Given the description of an element on the screen output the (x, y) to click on. 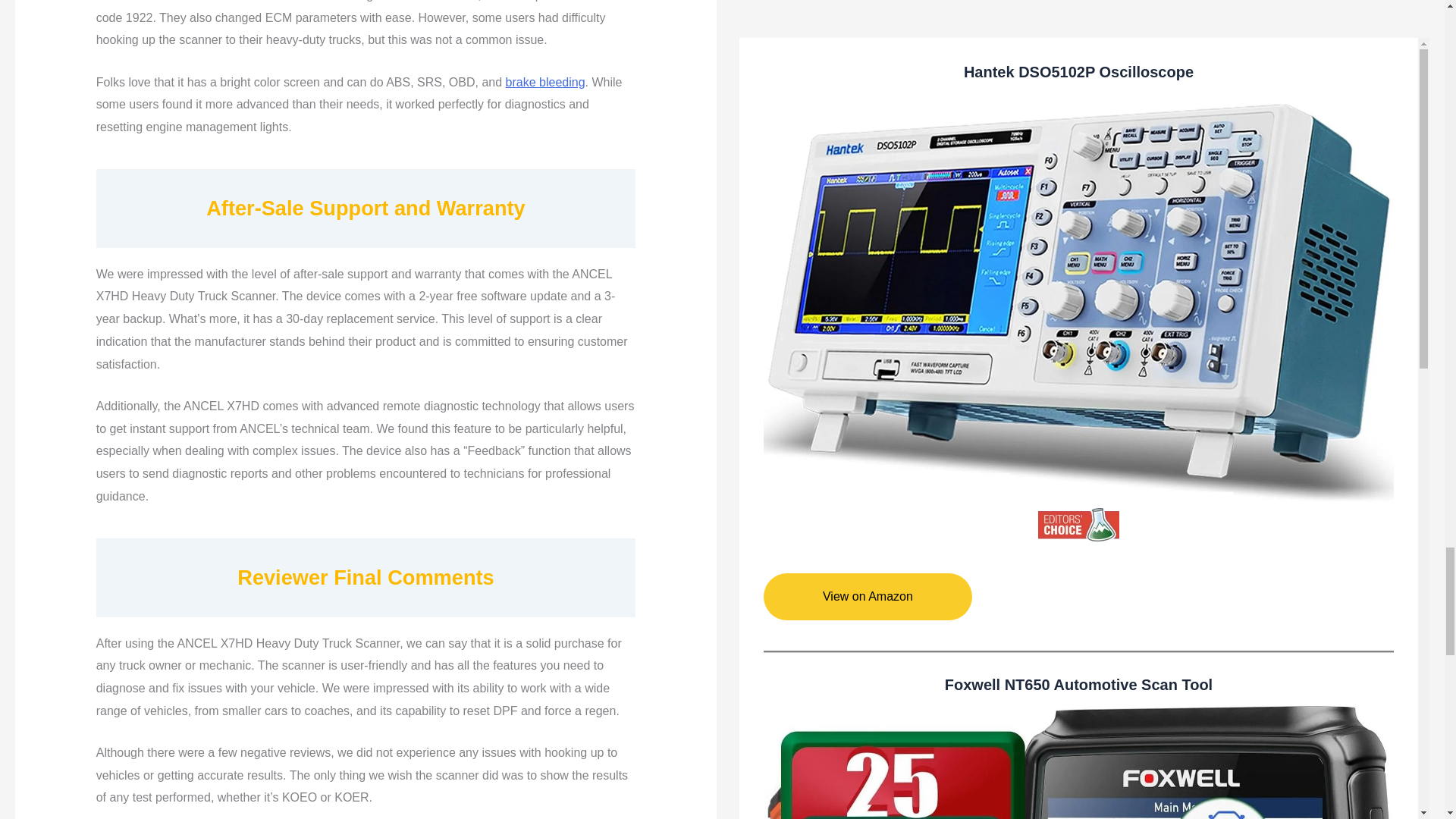
brake bleeding (545, 82)
